Given the description of an element on the screen output the (x, y) to click on. 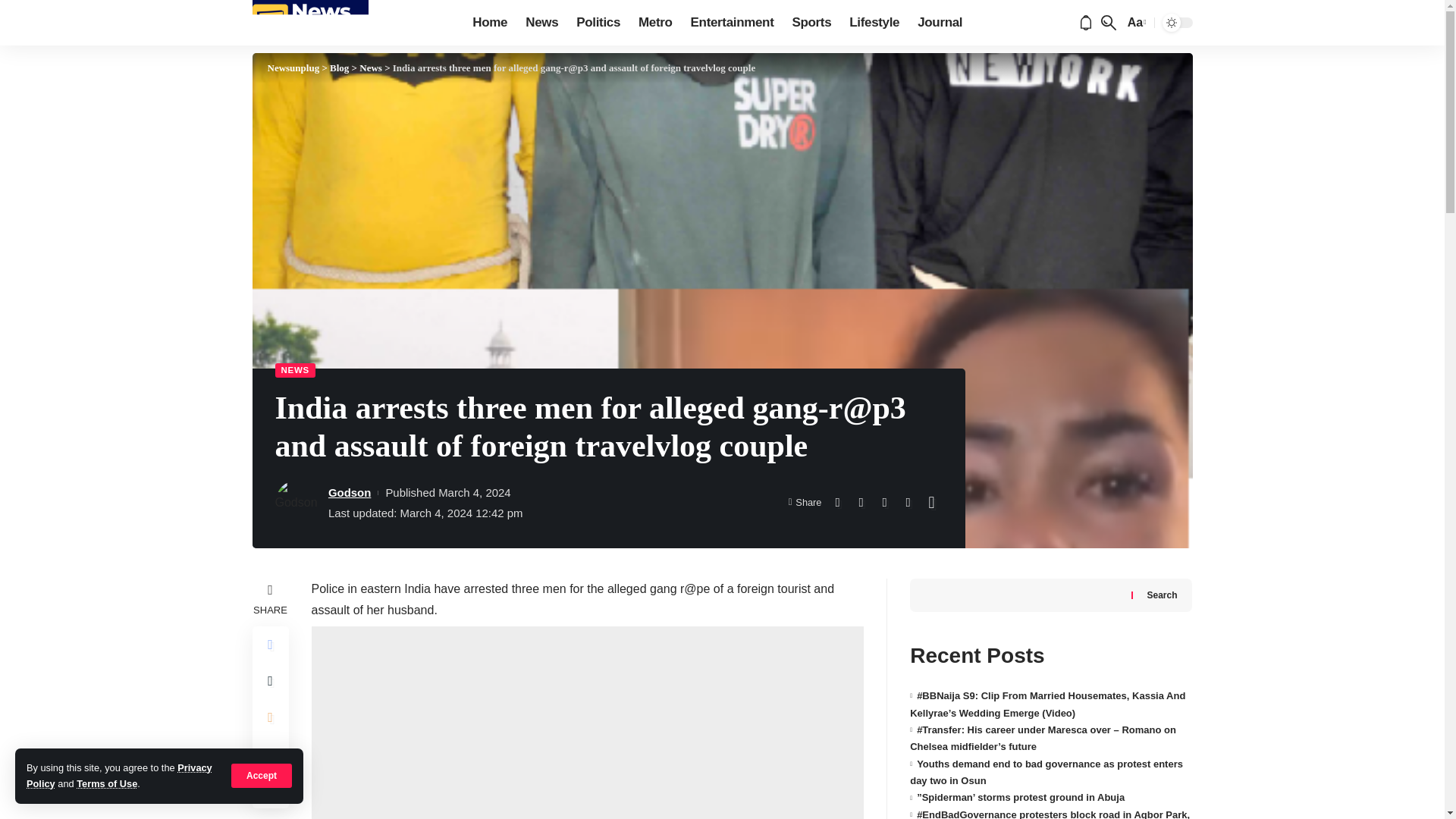
Go to Blog. (339, 67)
Home (489, 22)
Accept (261, 775)
Aa (1135, 22)
Entertainment (732, 22)
Newsunplug (309, 22)
Privacy Policy (119, 775)
Sports (811, 22)
News (541, 22)
Journal (939, 22)
